Given the description of an element on the screen output the (x, y) to click on. 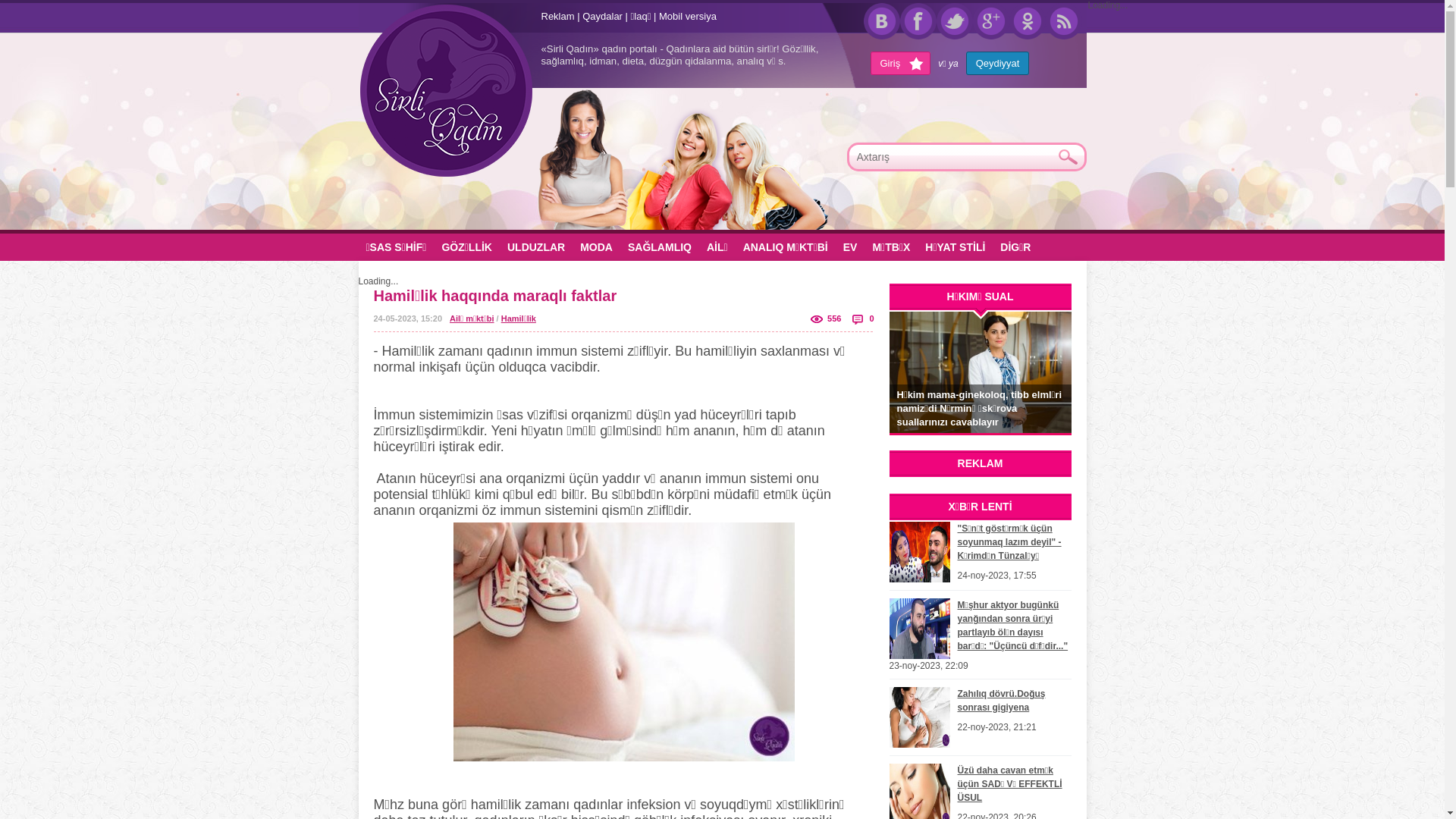
EV Element type: text (850, 246)
Mobil versiya Element type: text (687, 15)
Reklam Element type: text (557, 15)
Qeydiyyat Element type: text (997, 63)
MODA Element type: text (596, 246)
Qaydalar Element type: text (602, 15)
ULDUZLAR Element type: text (535, 246)
